Given the description of an element on the screen output the (x, y) to click on. 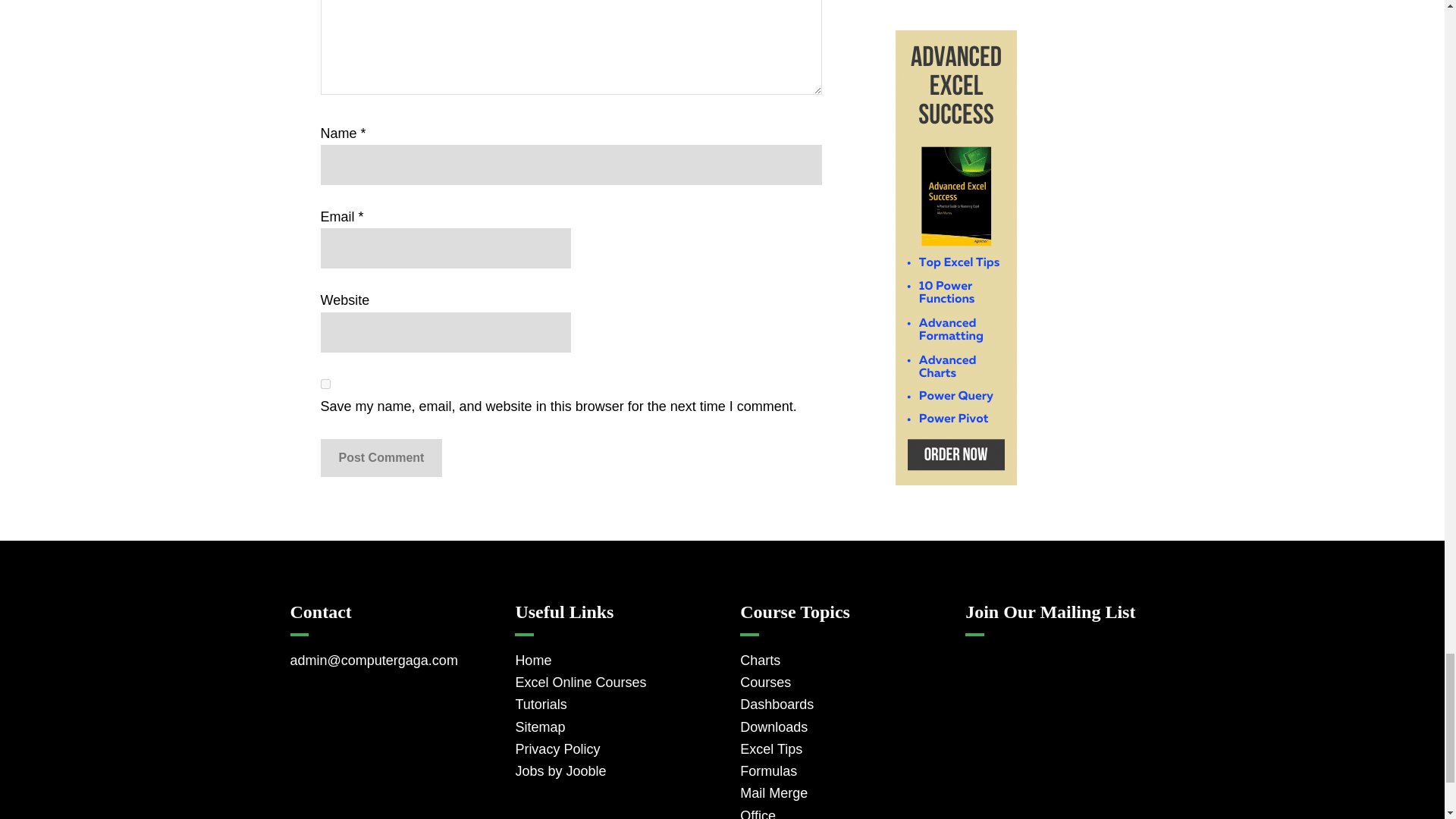
yes (325, 384)
Post Comment (381, 457)
Post Comment (381, 457)
